Given the description of an element on the screen output the (x, y) to click on. 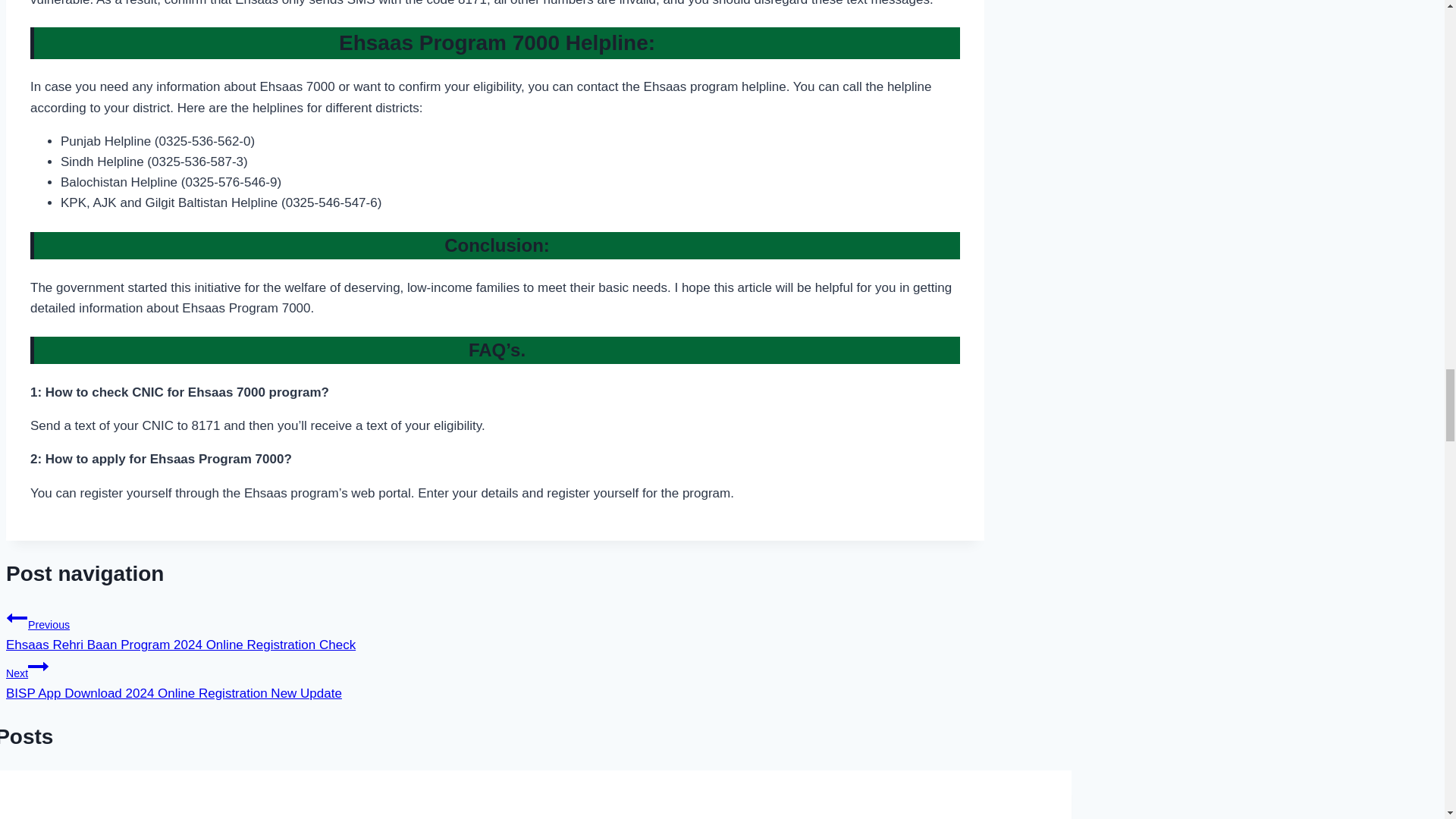
Previous (16, 617)
Continue (37, 666)
